Given the description of an element on the screen output the (x, y) to click on. 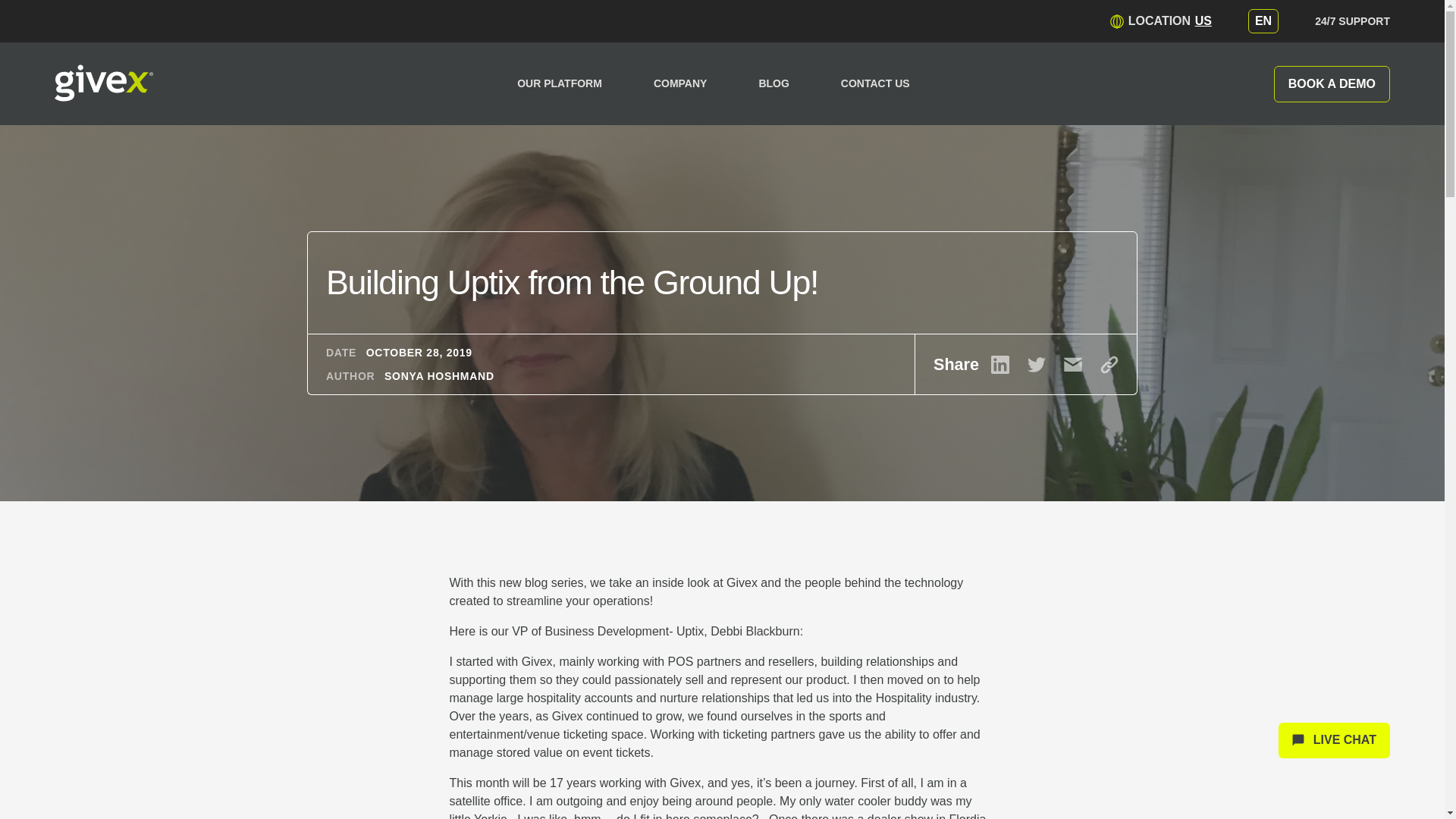
Go to homepage (103, 84)
OUR PLATFORM (559, 83)
EN (1262, 21)
COMPANY (1160, 21)
